Given the description of an element on the screen output the (x, y) to click on. 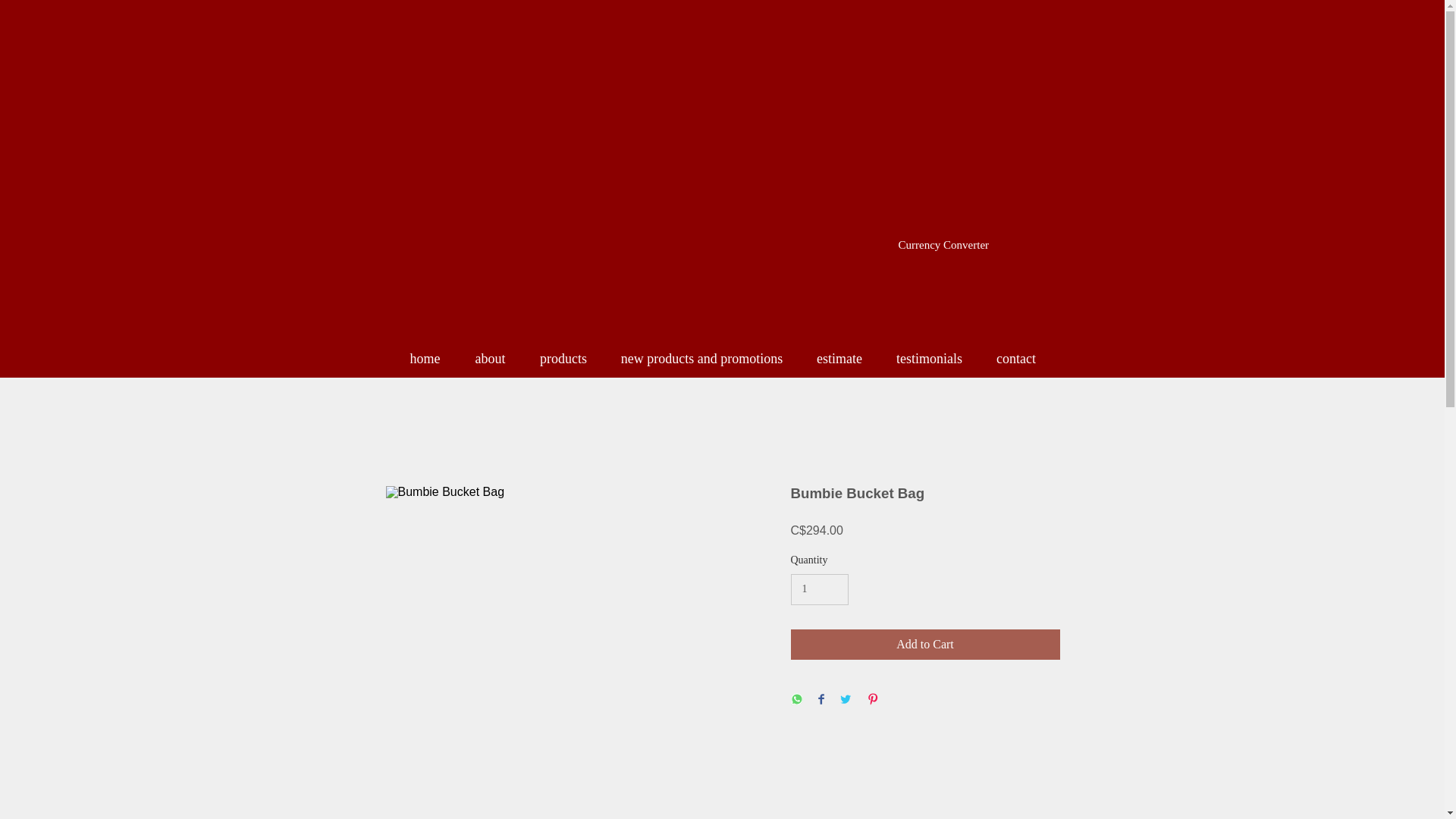
about (490, 358)
testimonials (929, 358)
home (425, 358)
products (563, 358)
estimate (839, 358)
contact (1015, 358)
1 (818, 589)
new products and promotions (701, 358)
Add to Cart (924, 644)
